Given the description of an element on the screen output the (x, y) to click on. 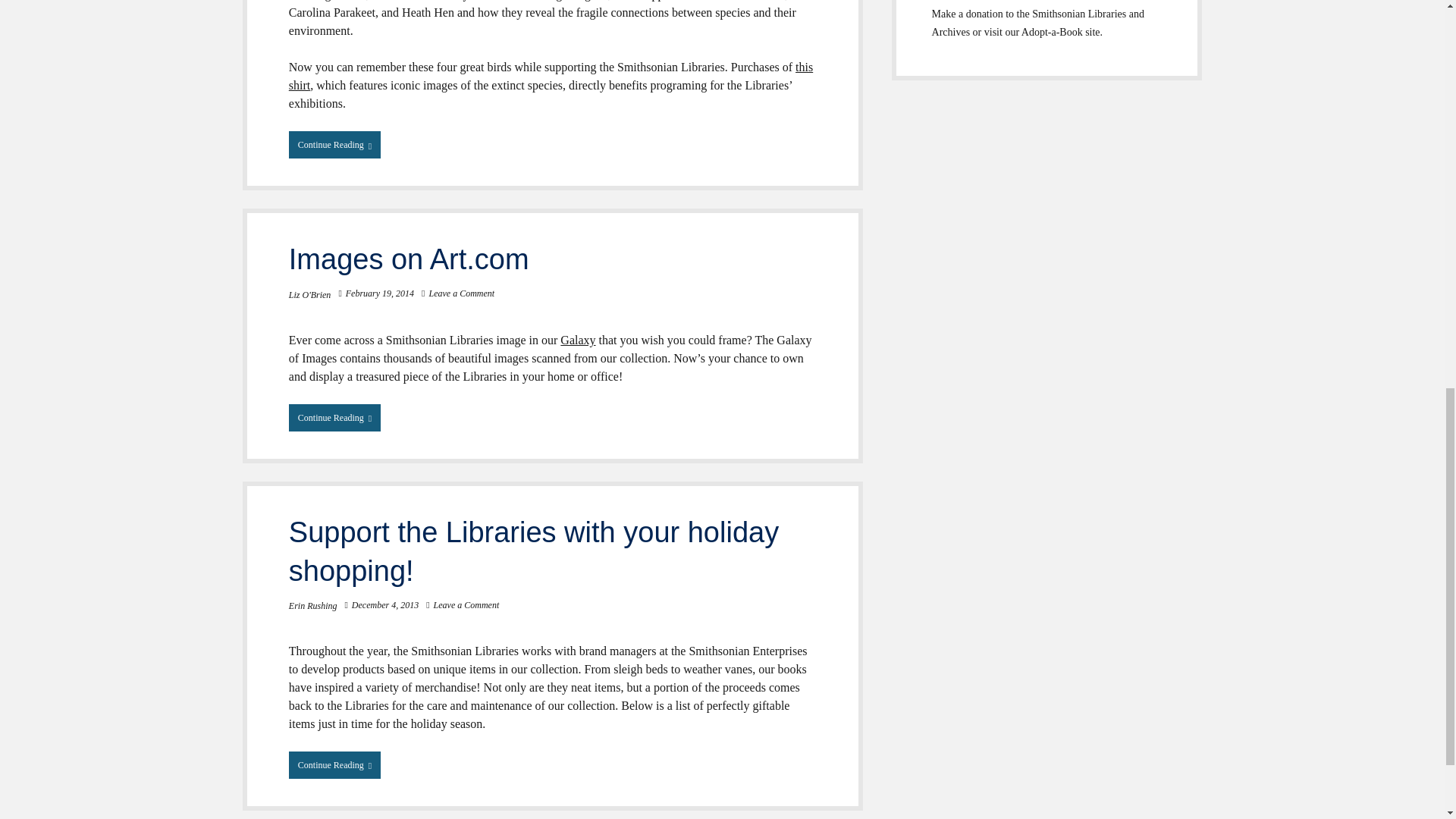
Liz O'Brien (309, 294)
Leave a Comment (466, 604)
this shirt (550, 75)
Leave a Comment (461, 293)
February 19, 2014 (379, 293)
Support the Libraries with your holiday shopping! (533, 551)
Galaxy (577, 339)
December 4, 2013 (385, 604)
Images on Art.com (408, 259)
OTWB Shirt (550, 75)
Erin Rushing (312, 605)
